Given the description of an element on the screen output the (x, y) to click on. 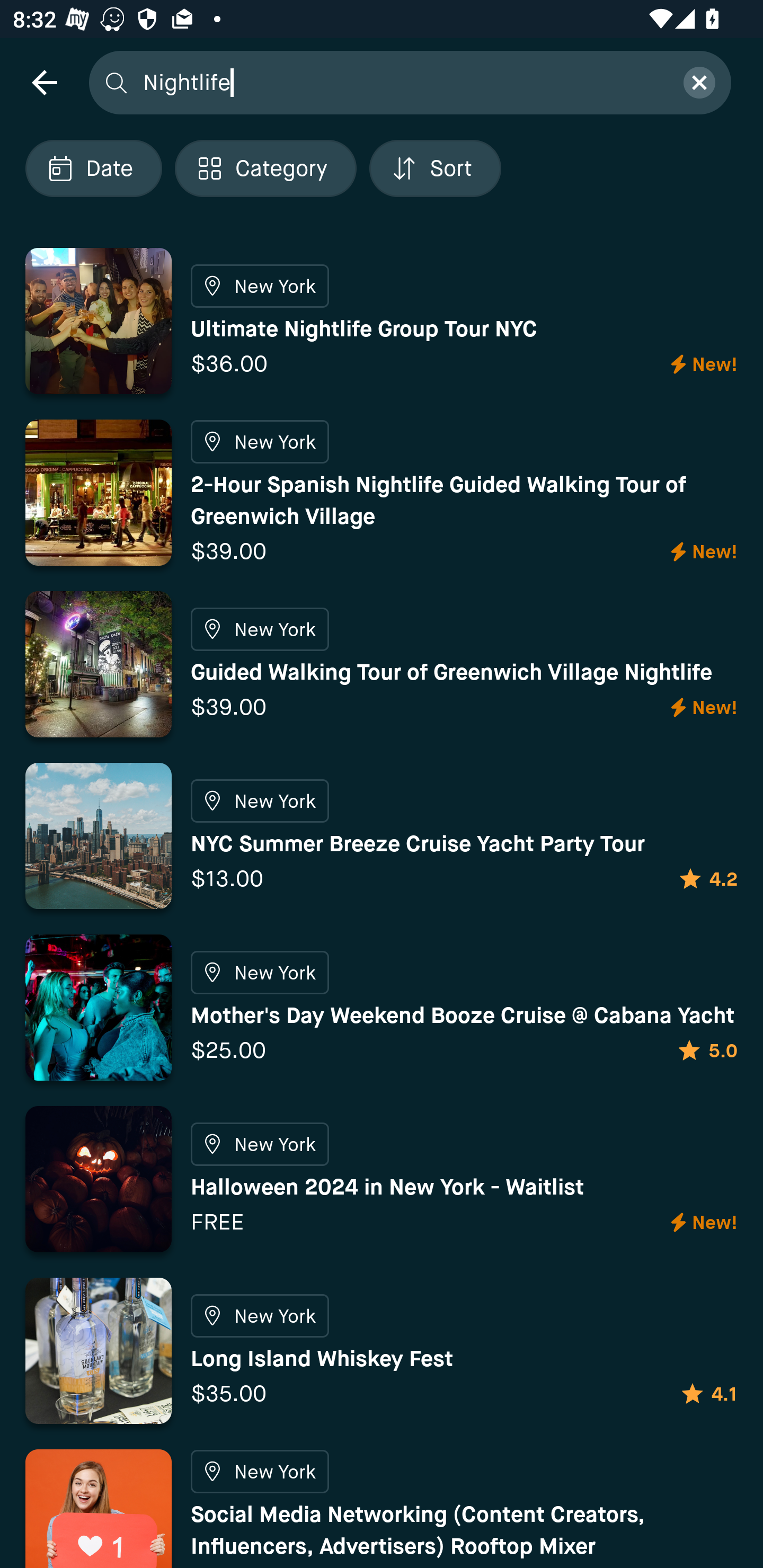
navigation icon (44, 81)
Nightlife (402, 81)
Localized description Date (93, 168)
Localized description Category (265, 168)
Localized description Sort (435, 168)
